Given the description of an element on the screen output the (x, y) to click on. 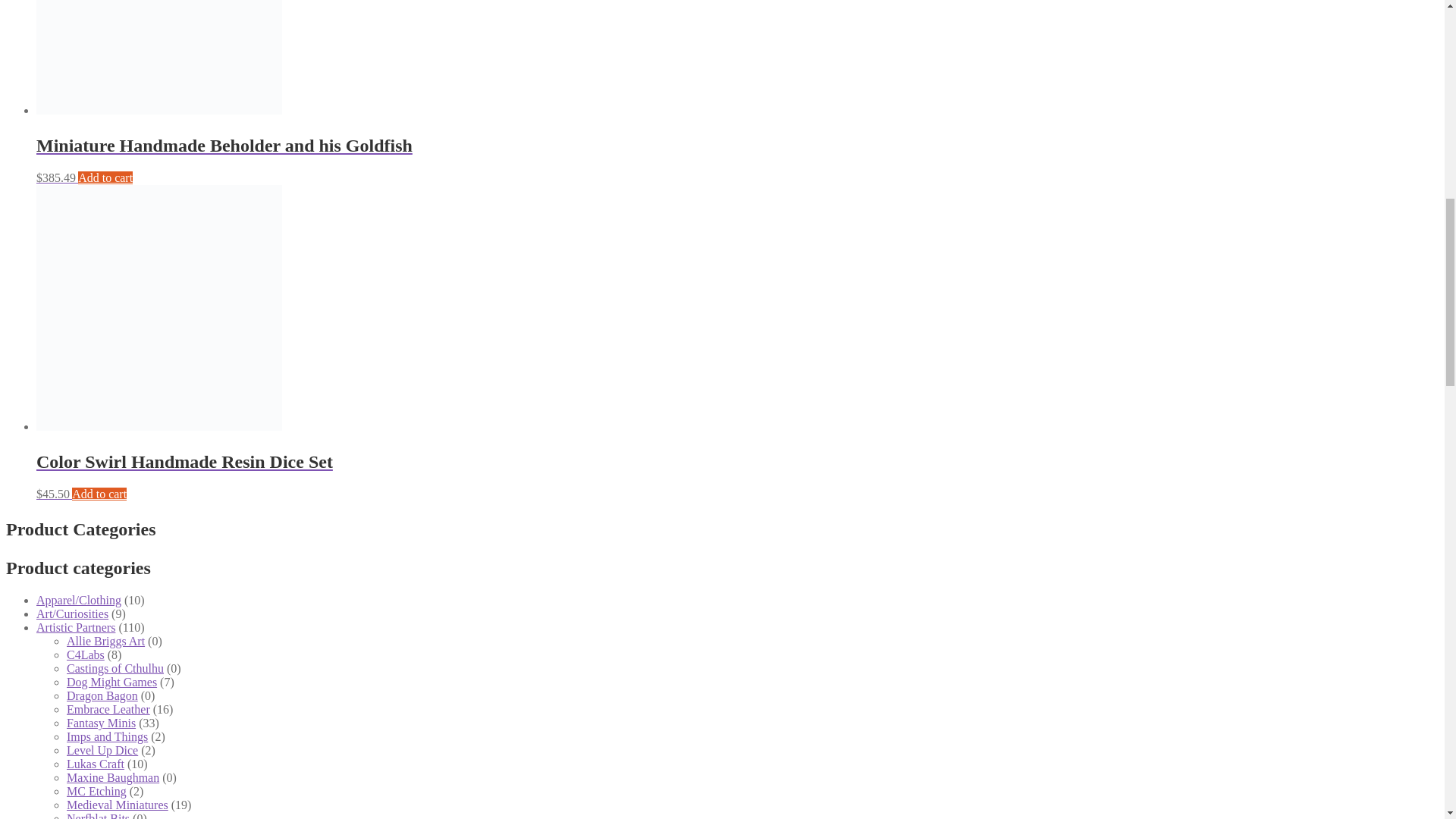
Artistic Partners (75, 626)
Add to cart (98, 493)
Add to cart (105, 177)
Allie Briggs Art (105, 640)
Castings of Cthulhu (114, 667)
C4Labs (85, 654)
Dog Might Games (111, 681)
